Given the description of an element on the screen output the (x, y) to click on. 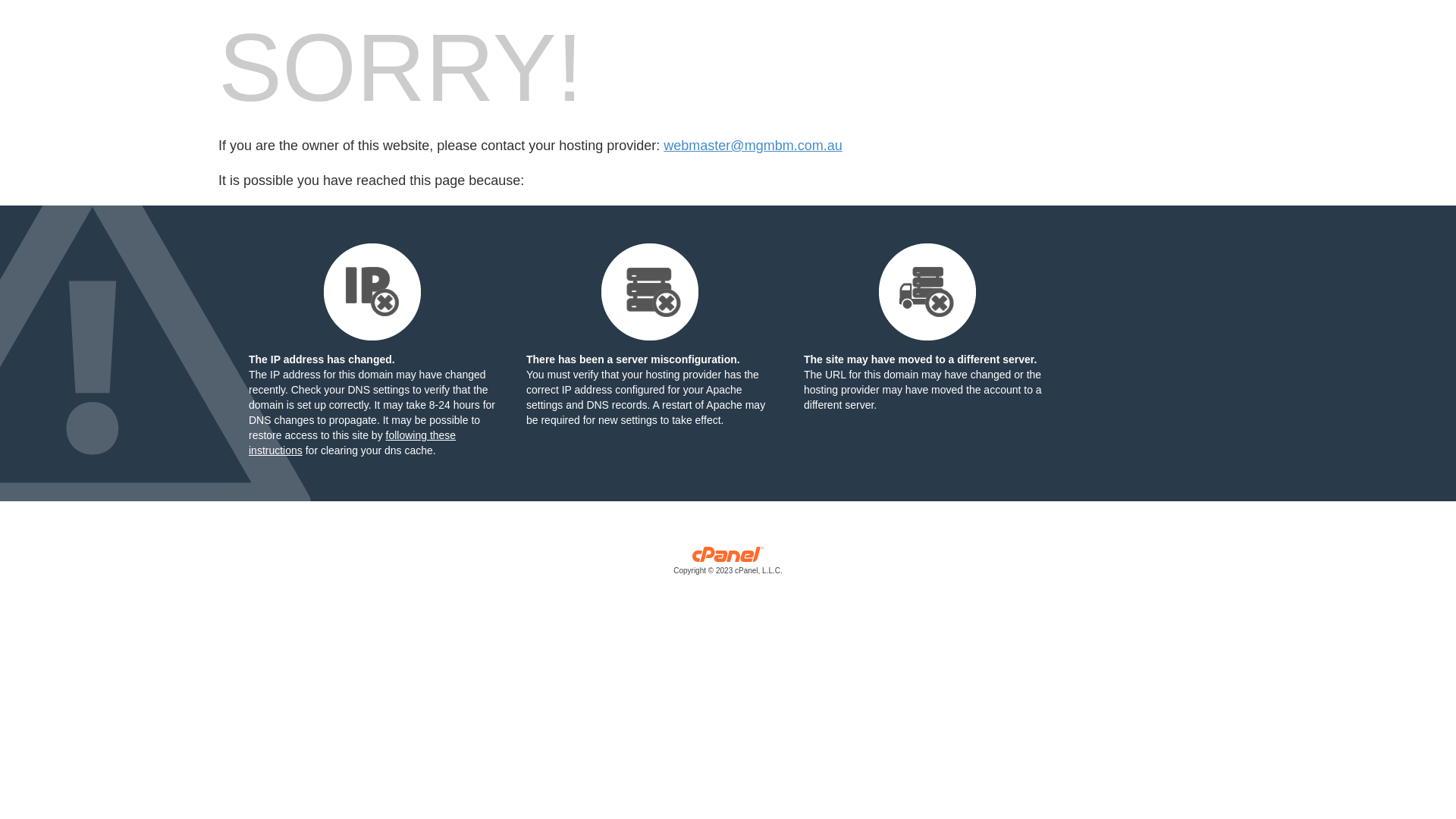
following these instructions Element type: text (351, 442)
webmaster@mgmbm.com.au Element type: text (752, 145)
